Given the description of an element on the screen output the (x, y) to click on. 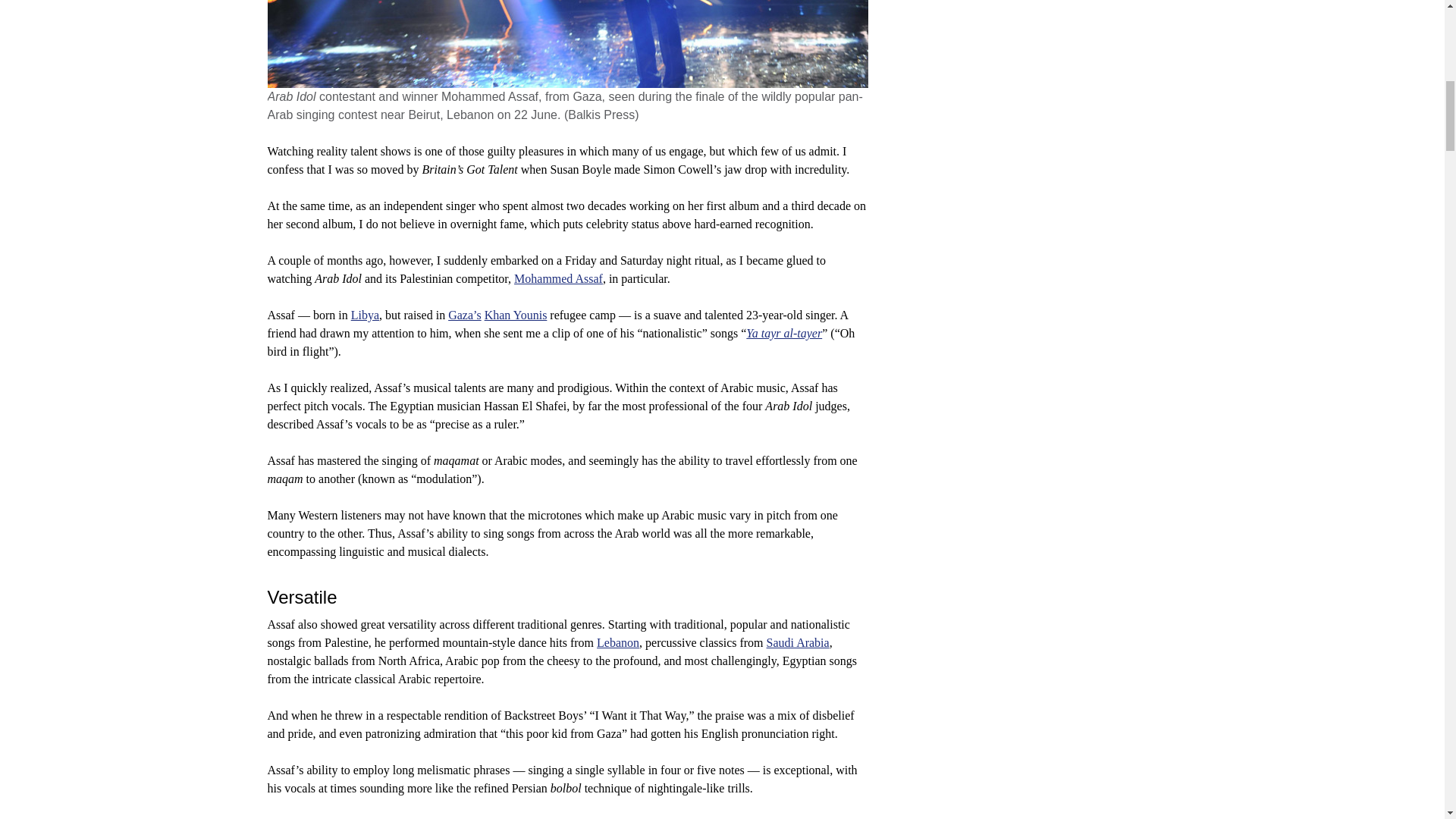
Khan Younis (515, 314)
Lebanon (617, 642)
Ya tayr al-tayer (783, 332)
Libya (364, 314)
Mohammed Assaf (557, 278)
Saudi Arabia (798, 642)
